Given the description of an element on the screen output the (x, y) to click on. 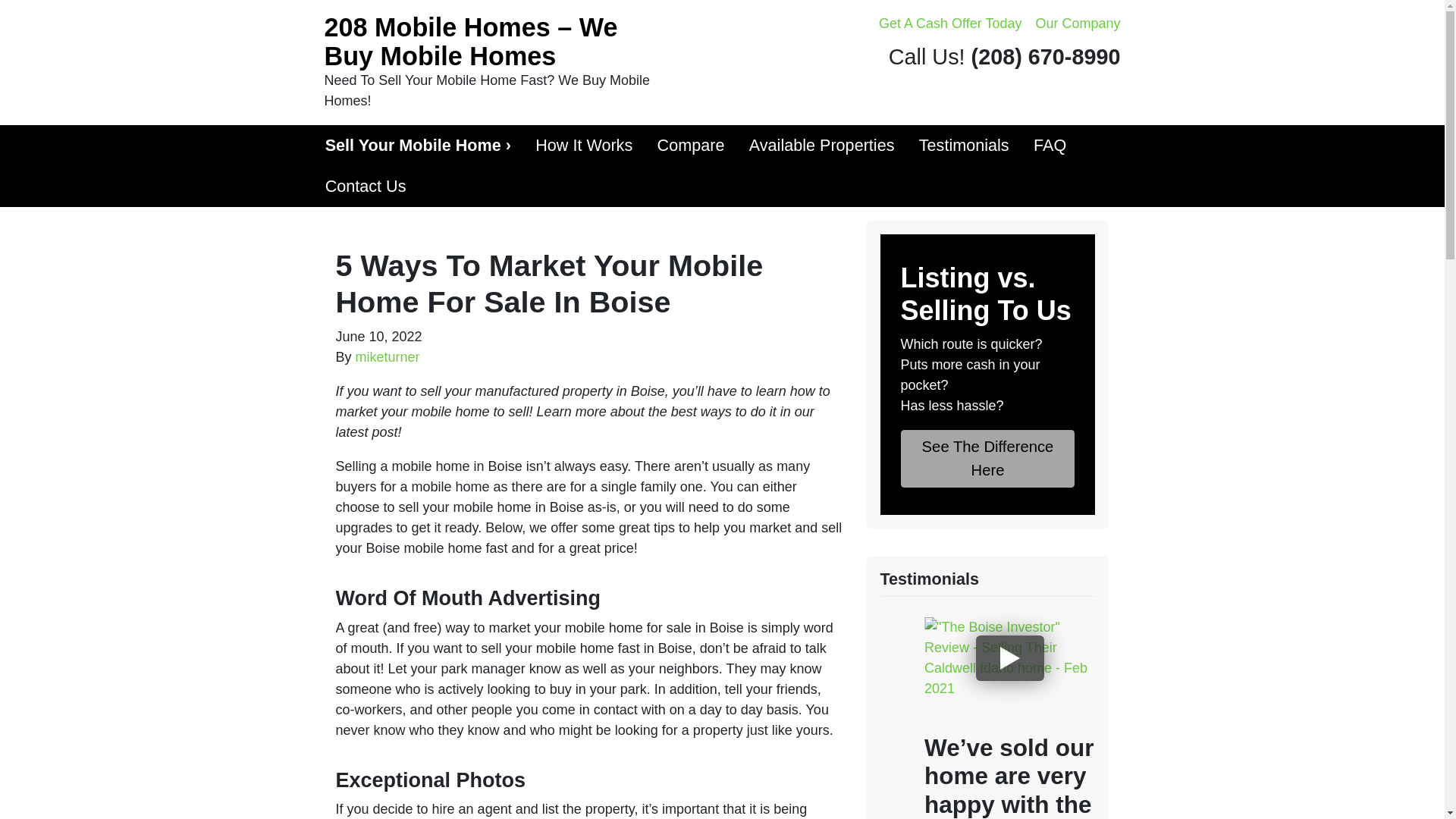
Contact Us (365, 186)
Testimonials (964, 145)
Get A Cash Offer Today (949, 23)
Available Properties (821, 145)
Contact Us (365, 186)
How It Works (583, 145)
FAQ (1050, 145)
Our Company (1076, 23)
Compare (690, 145)
FAQ (1050, 145)
miketurner (387, 356)
Compare (690, 145)
How It Works (583, 145)
See The Difference Here (988, 458)
Available Properties (821, 145)
